Given the description of an element on the screen output the (x, y) to click on. 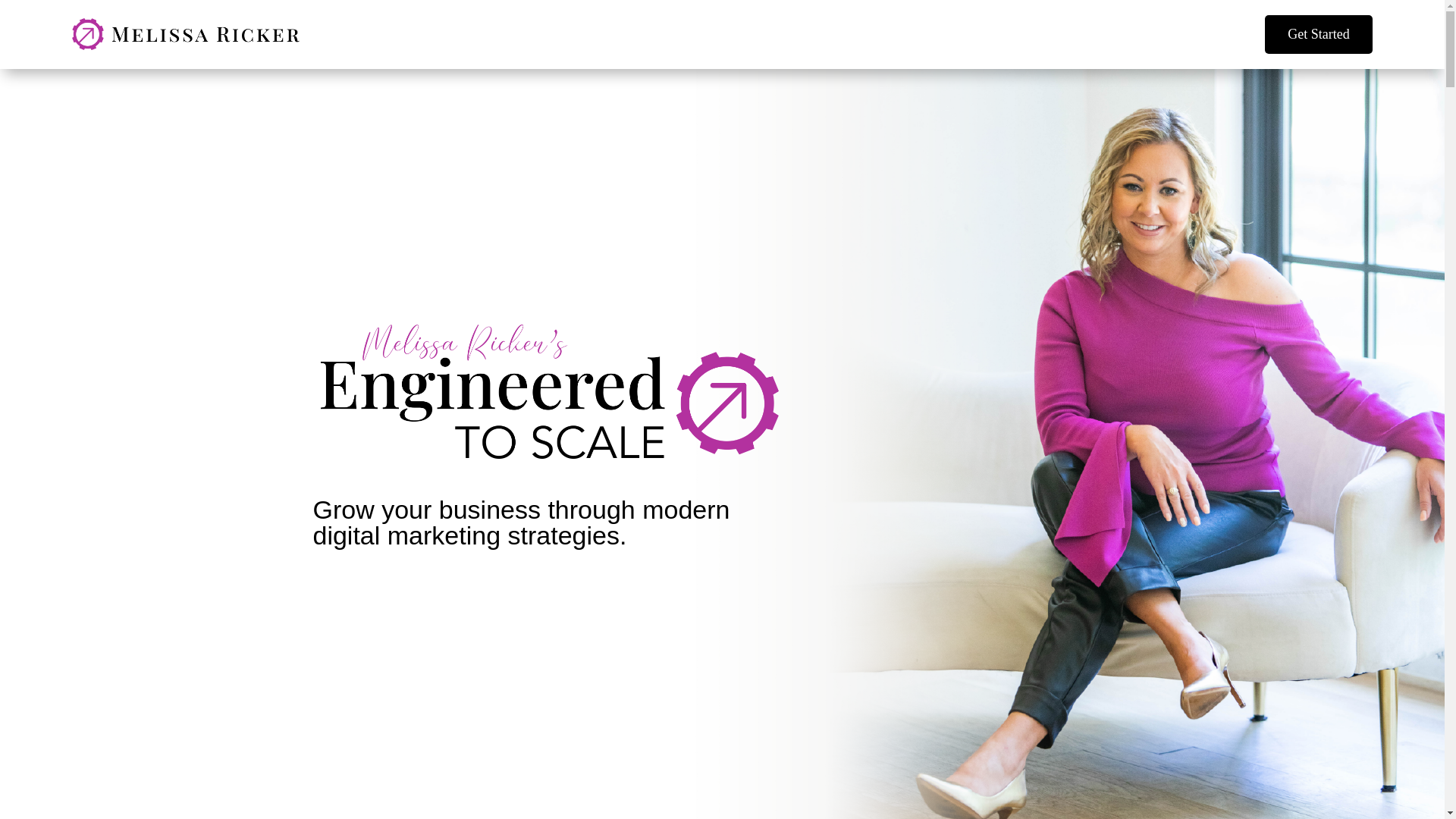
billboard logo - Melissa Ricker (548, 391)
Get Started (1318, 34)
header logo (185, 33)
